Given the description of an element on the screen output the (x, y) to click on. 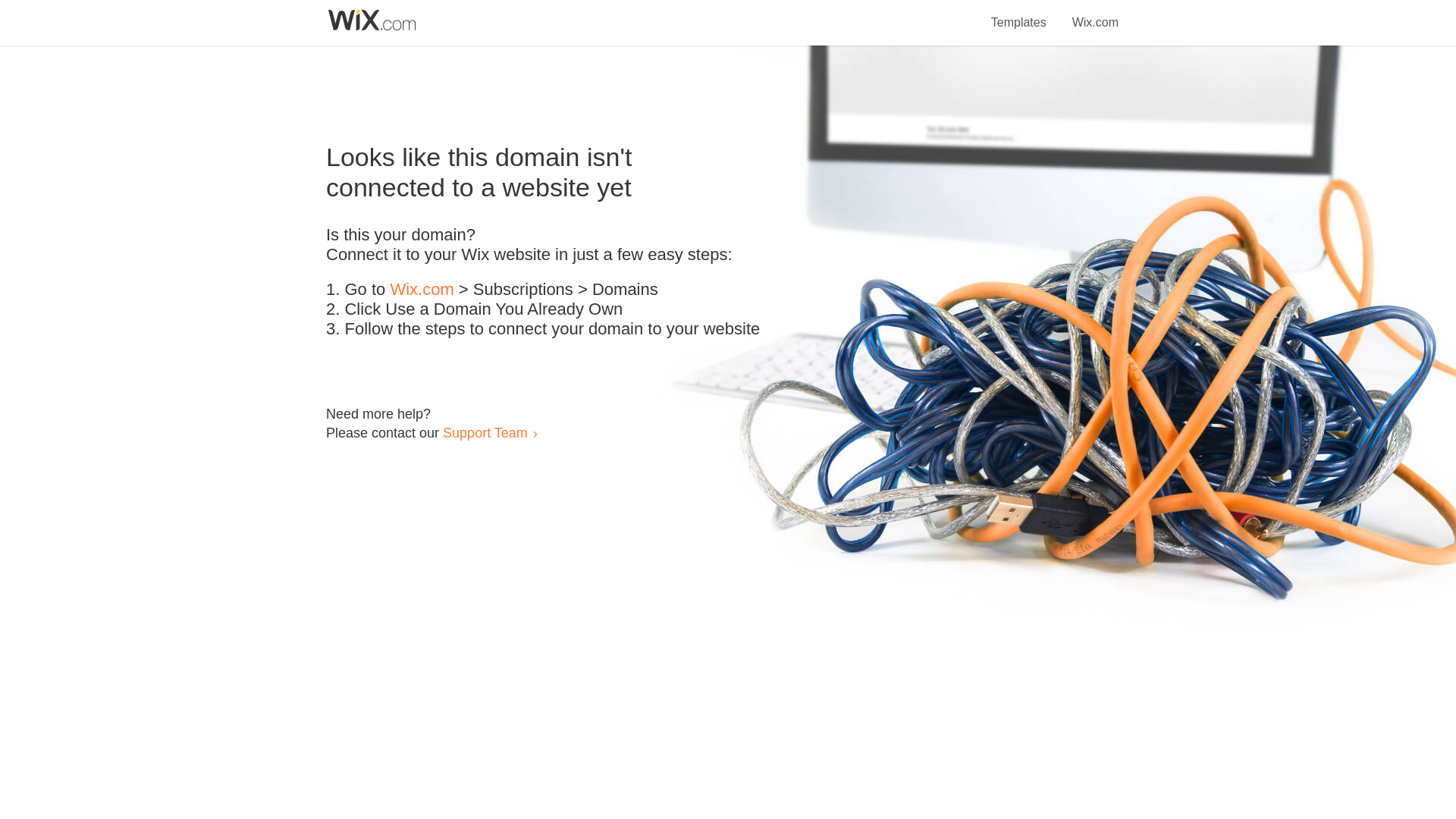
Templates (1018, 14)
Wix.com (1095, 14)
Support Team (484, 432)
Wix.com (421, 289)
